Given the description of an element on the screen output the (x, y) to click on. 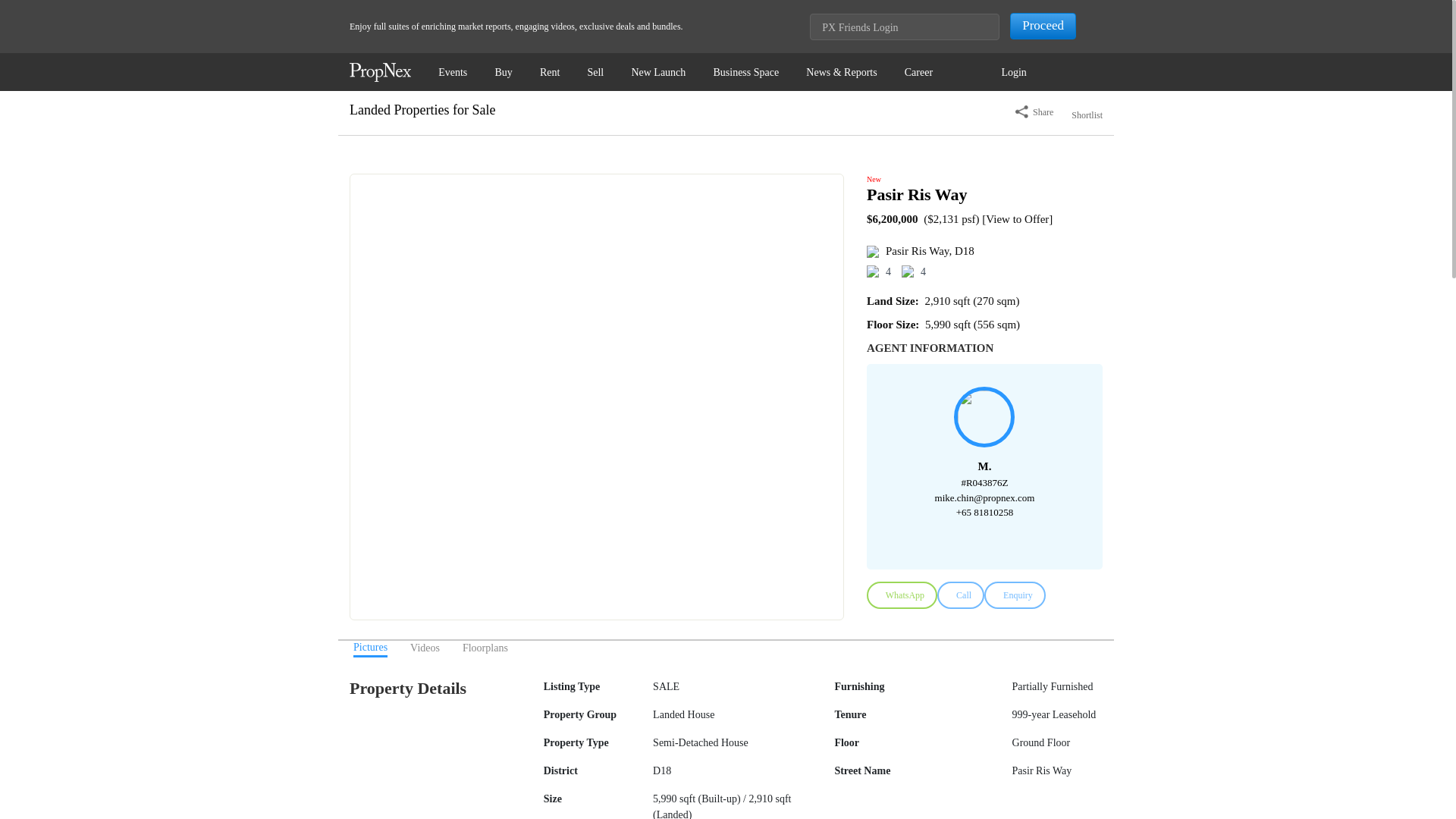
Career (918, 71)
Business Space (745, 71)
Landed Properties for Sale (422, 109)
Login (1013, 71)
Sell (595, 71)
New Launch (657, 71)
Share (1033, 112)
Buy (502, 71)
Proceed (1042, 26)
Rent (550, 71)
PX Friends Login (903, 26)
Events (452, 71)
